Given the description of an element on the screen output the (x, y) to click on. 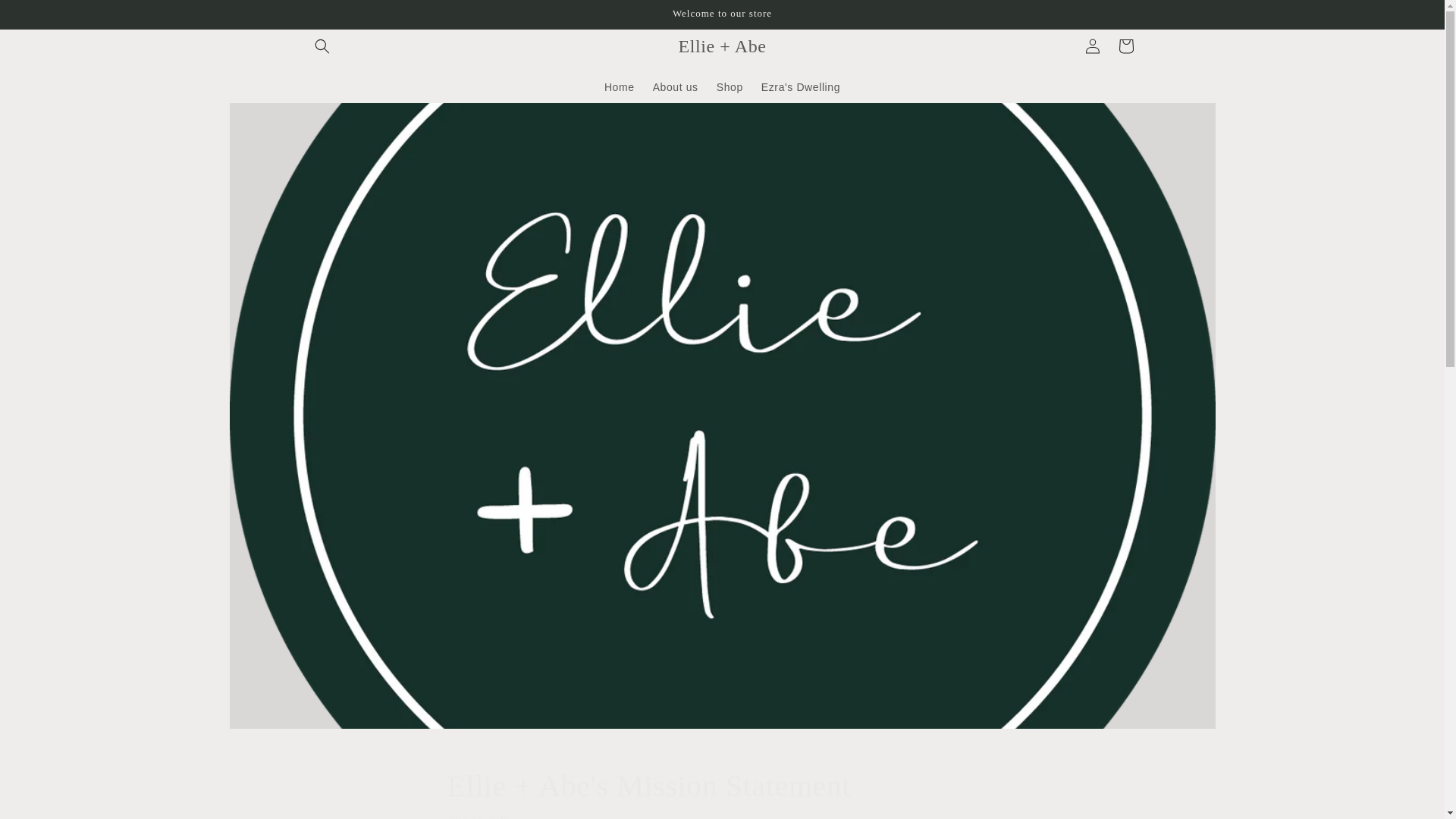
Ezra's Dwelling (800, 87)
Log in (1091, 46)
Shop (729, 87)
Skip to content (45, 17)
About us (675, 87)
Home (619, 87)
Cart (1124, 46)
